Given the description of an element on the screen output the (x, y) to click on. 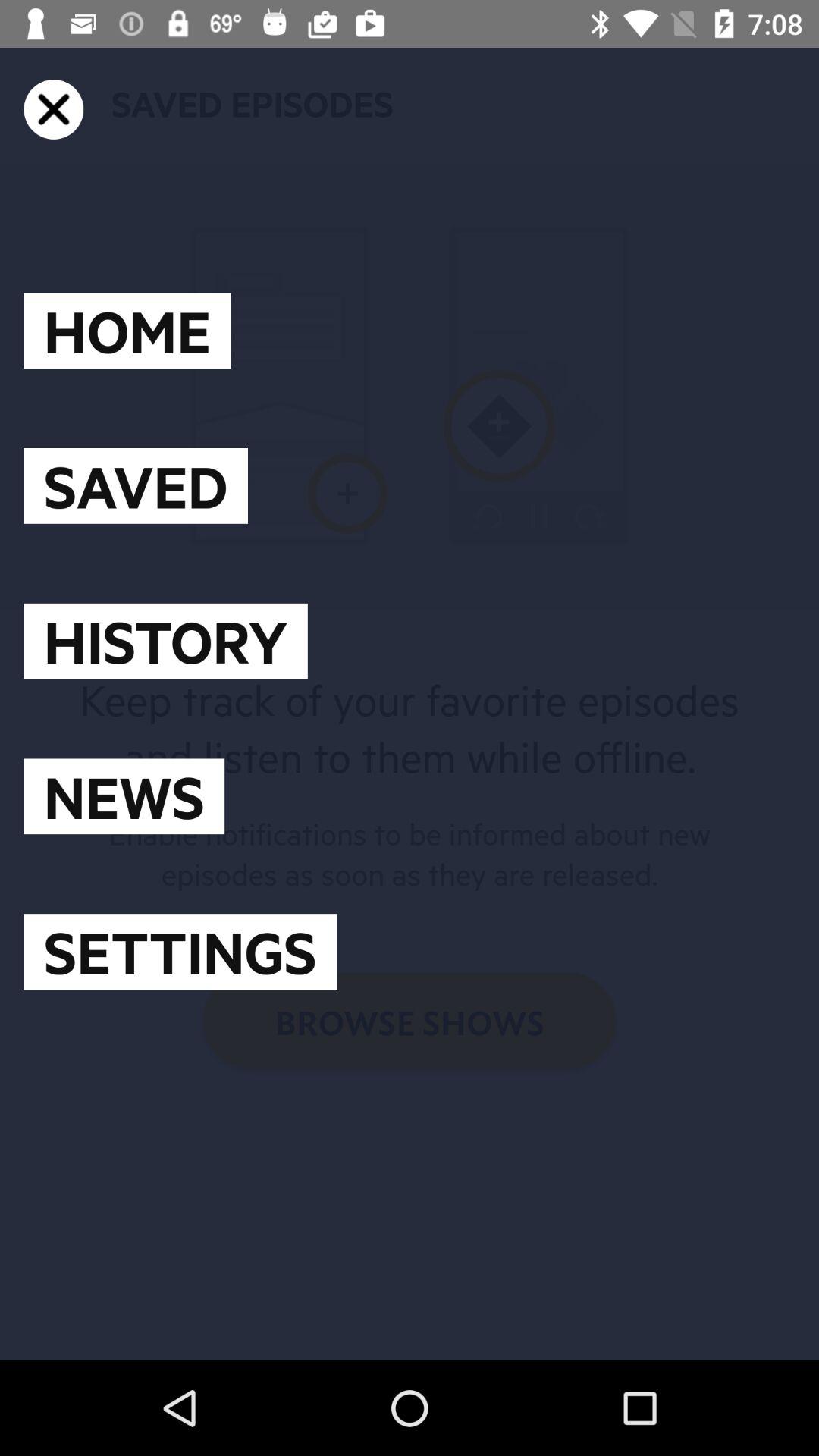
turn off settings (179, 951)
